Given the description of an element on the screen output the (x, y) to click on. 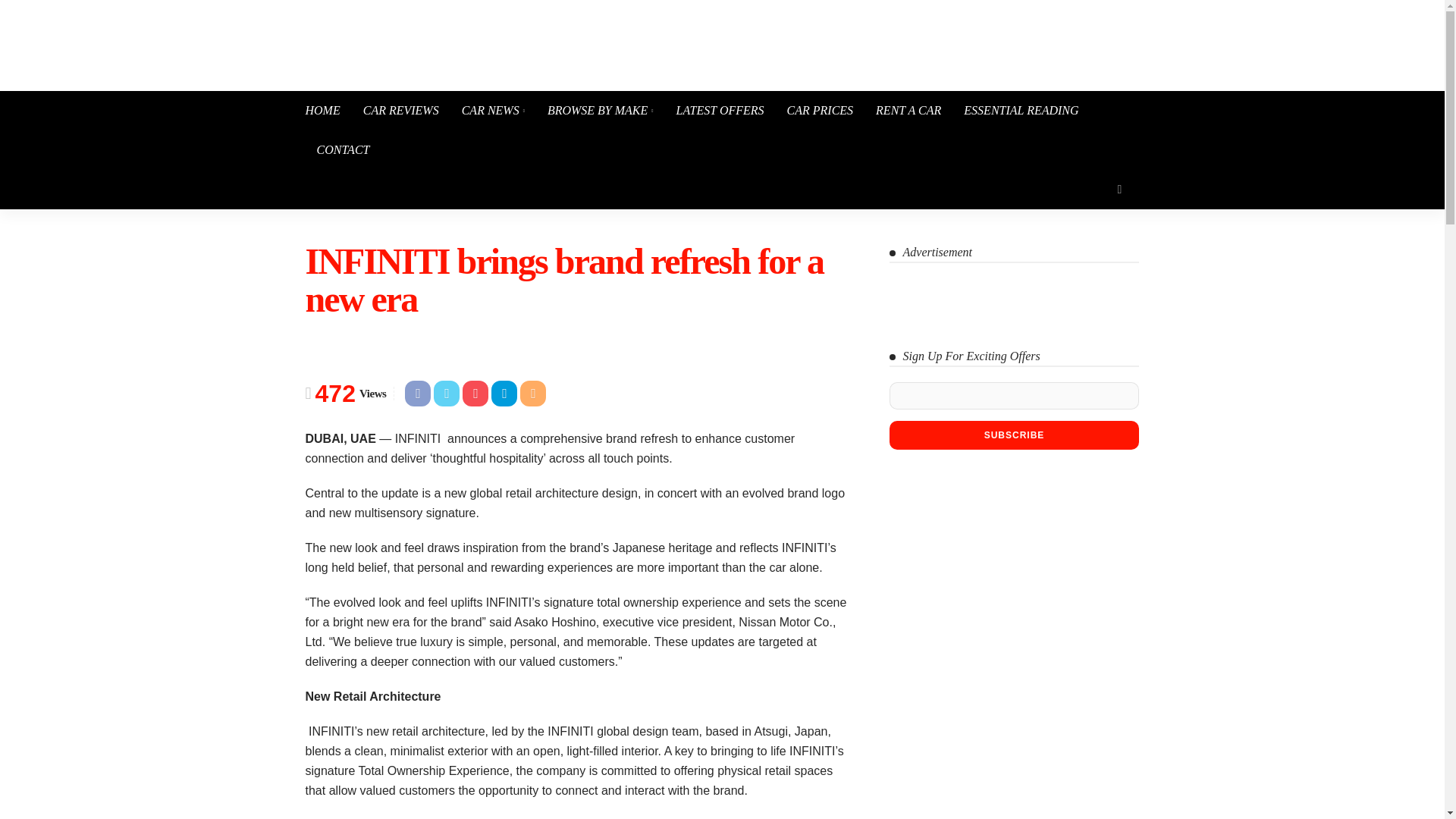
Subscribe (1013, 434)
search (1118, 189)
HOME (327, 110)
